Given the description of an element on the screen output the (x, y) to click on. 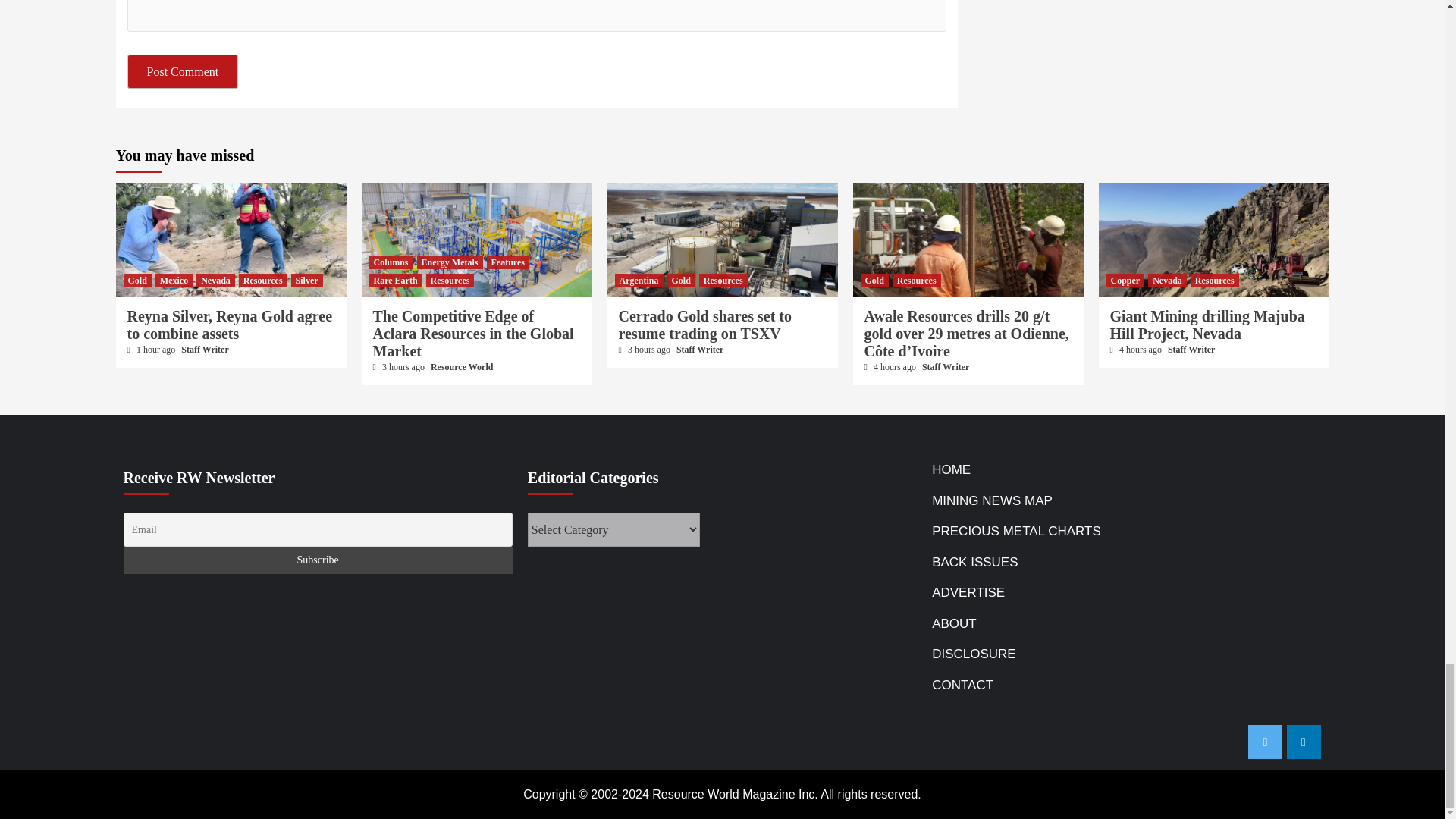
Subscribe (317, 560)
Post Comment (183, 71)
